Given the description of an element on the screen output the (x, y) to click on. 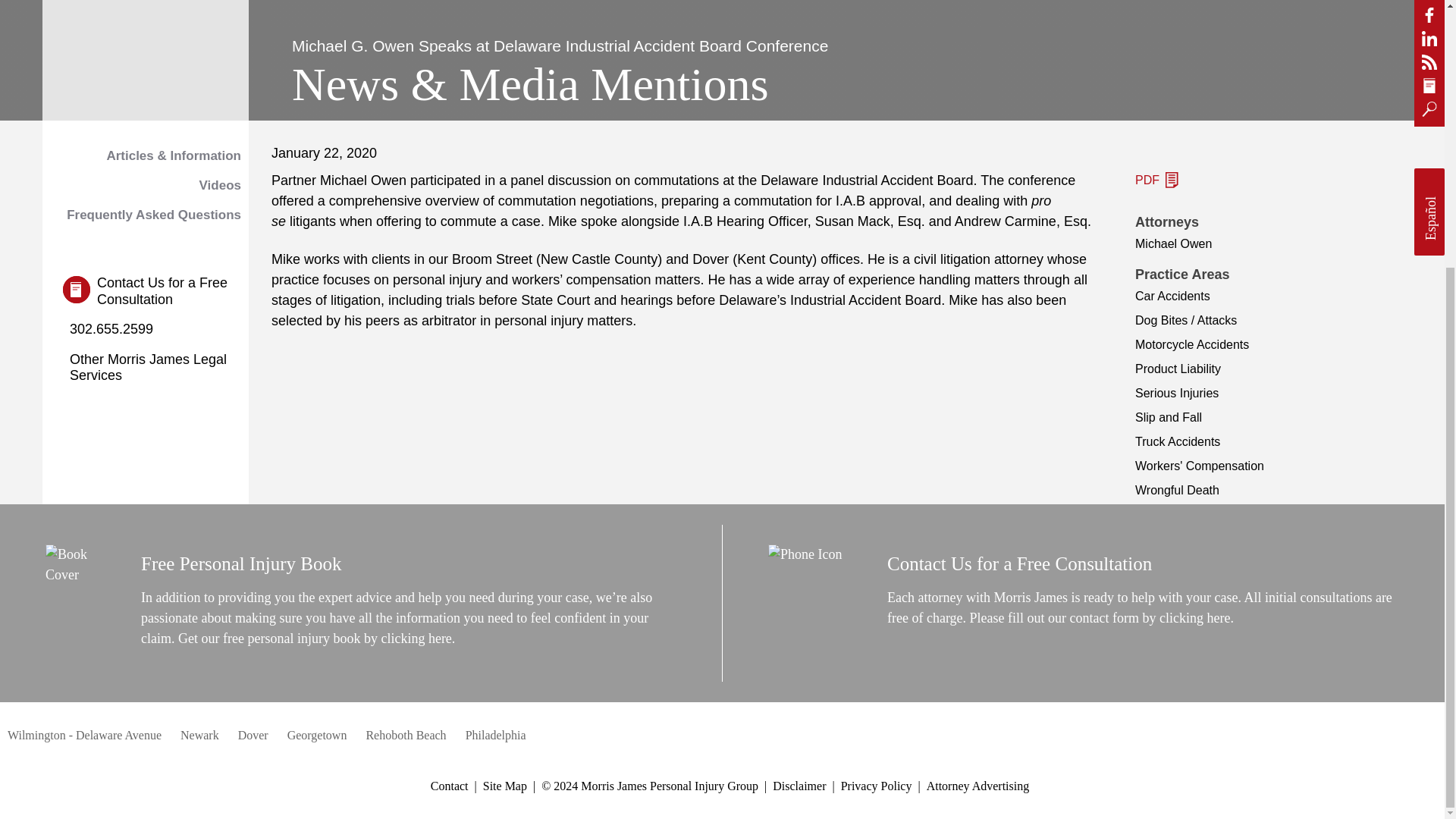
Contact Us for a Free Consultation (1018, 562)
Frequently Asked Questions (145, 215)
Free Personal Injury Book (241, 562)
Michael Owen (1173, 243)
Other Morris James Legal Services (155, 368)
Product Liability (1178, 368)
302.655.2599 (107, 329)
Slip and Fall (1168, 417)
Car Accidents (1172, 295)
PDF (1156, 179)
